Given the description of an element on the screen output the (x, y) to click on. 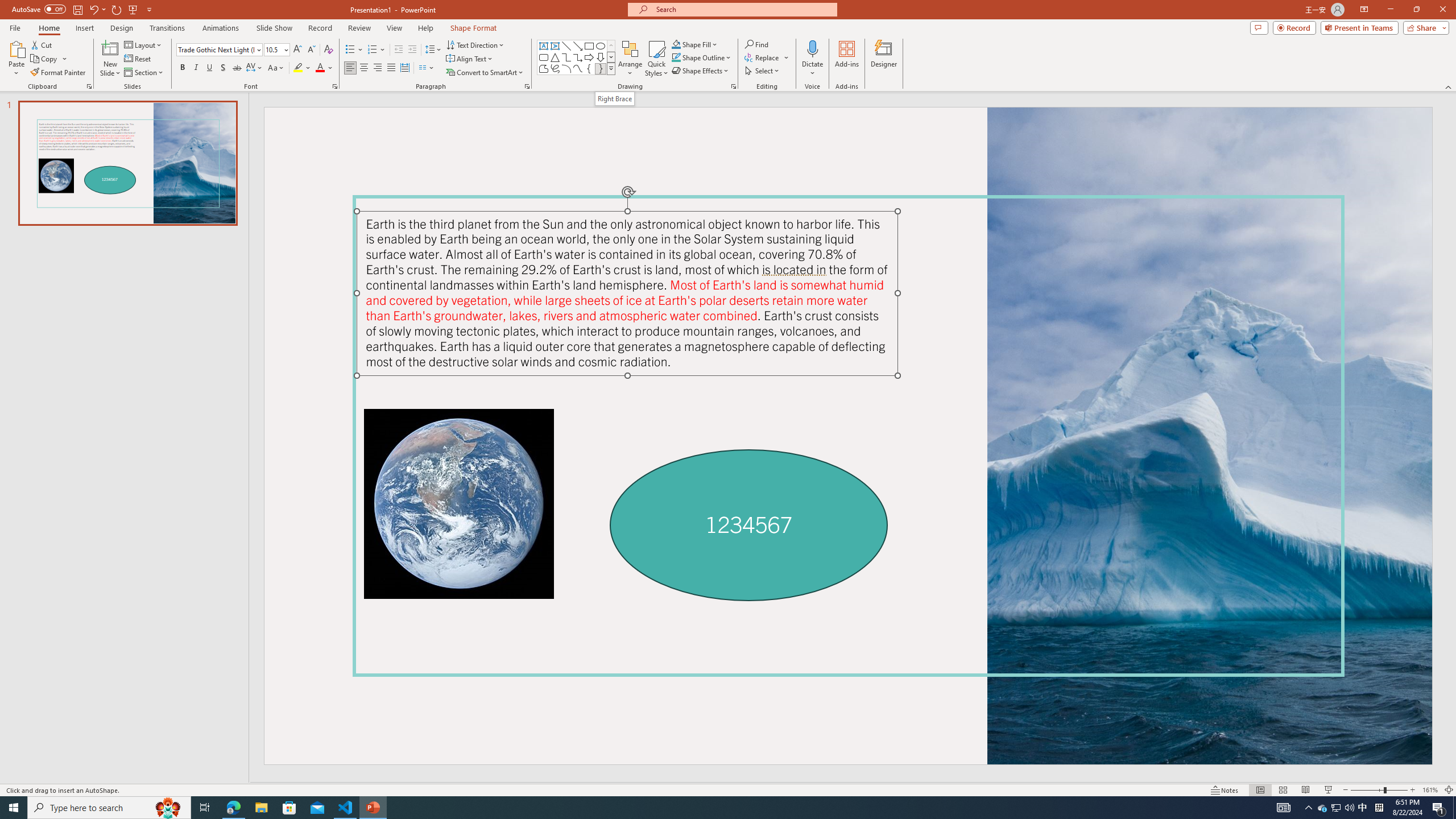
Zoom 161% (1430, 790)
